Given the description of an element on the screen output the (x, y) to click on. 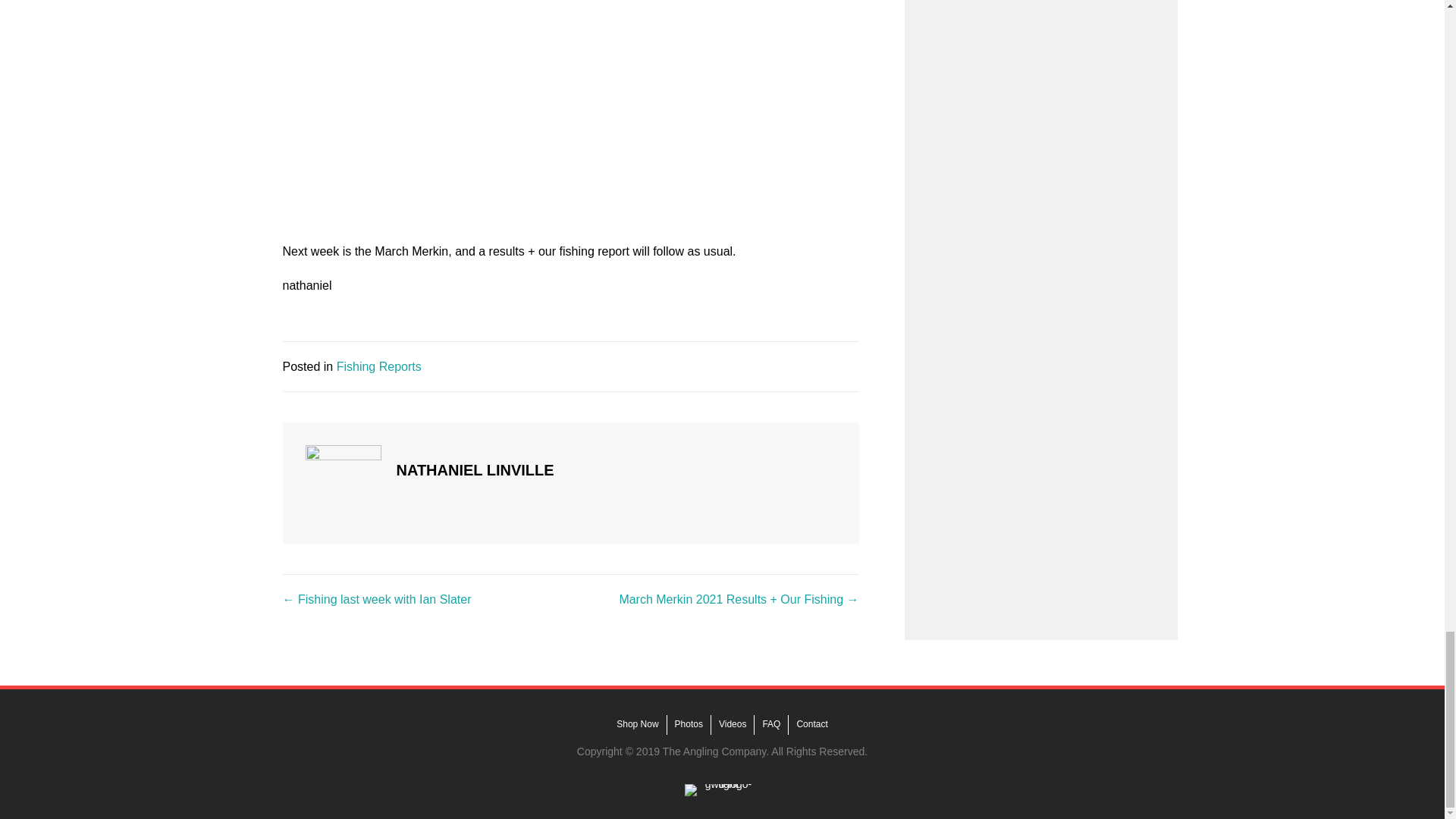
gwd-logo-light (722, 789)
Shop Now (636, 724)
Fishing Reports (379, 366)
Photos (688, 724)
